Given the description of an element on the screen output the (x, y) to click on. 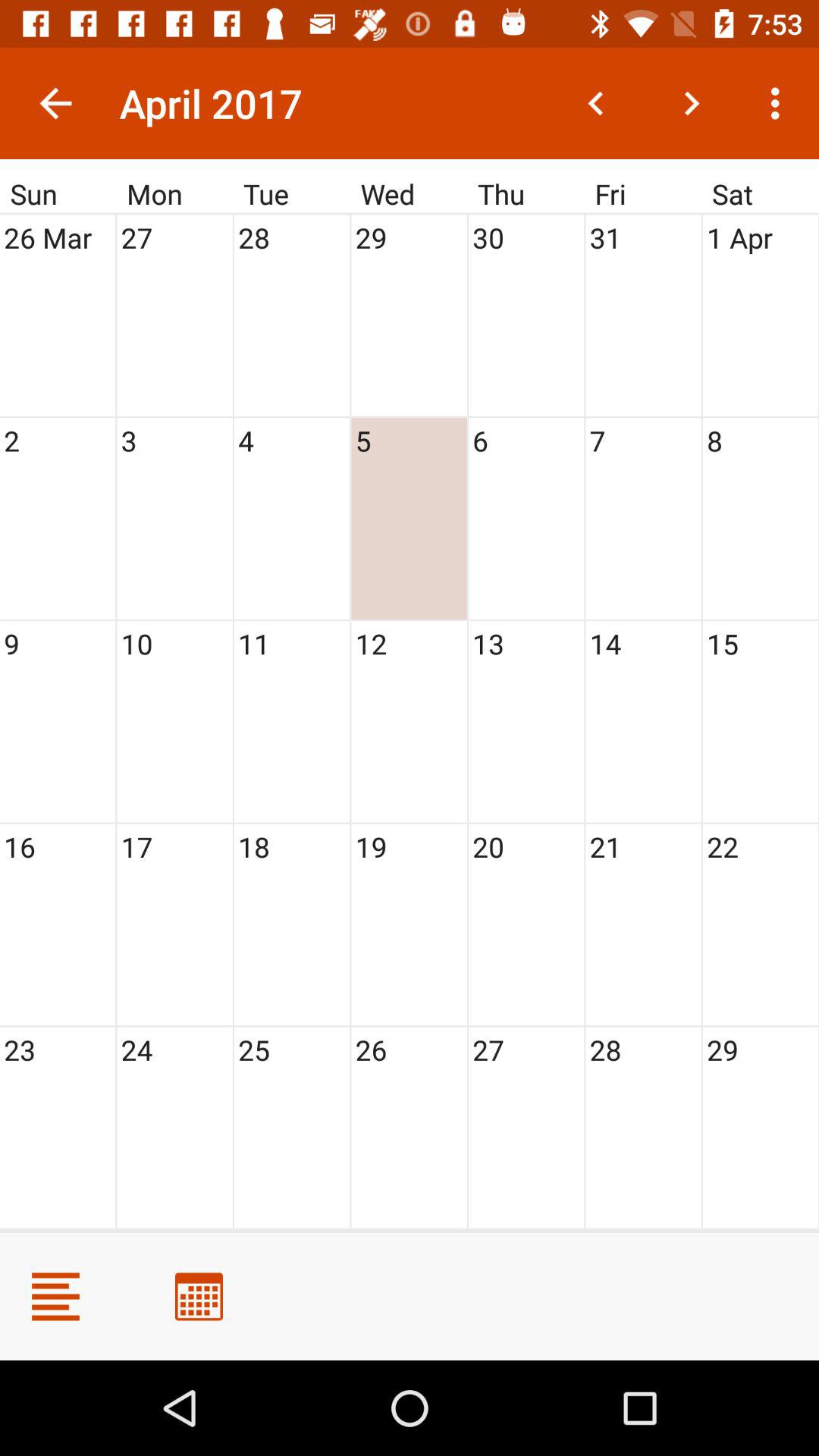
go to previous month (595, 103)
